Given the description of an element on the screen output the (x, y) to click on. 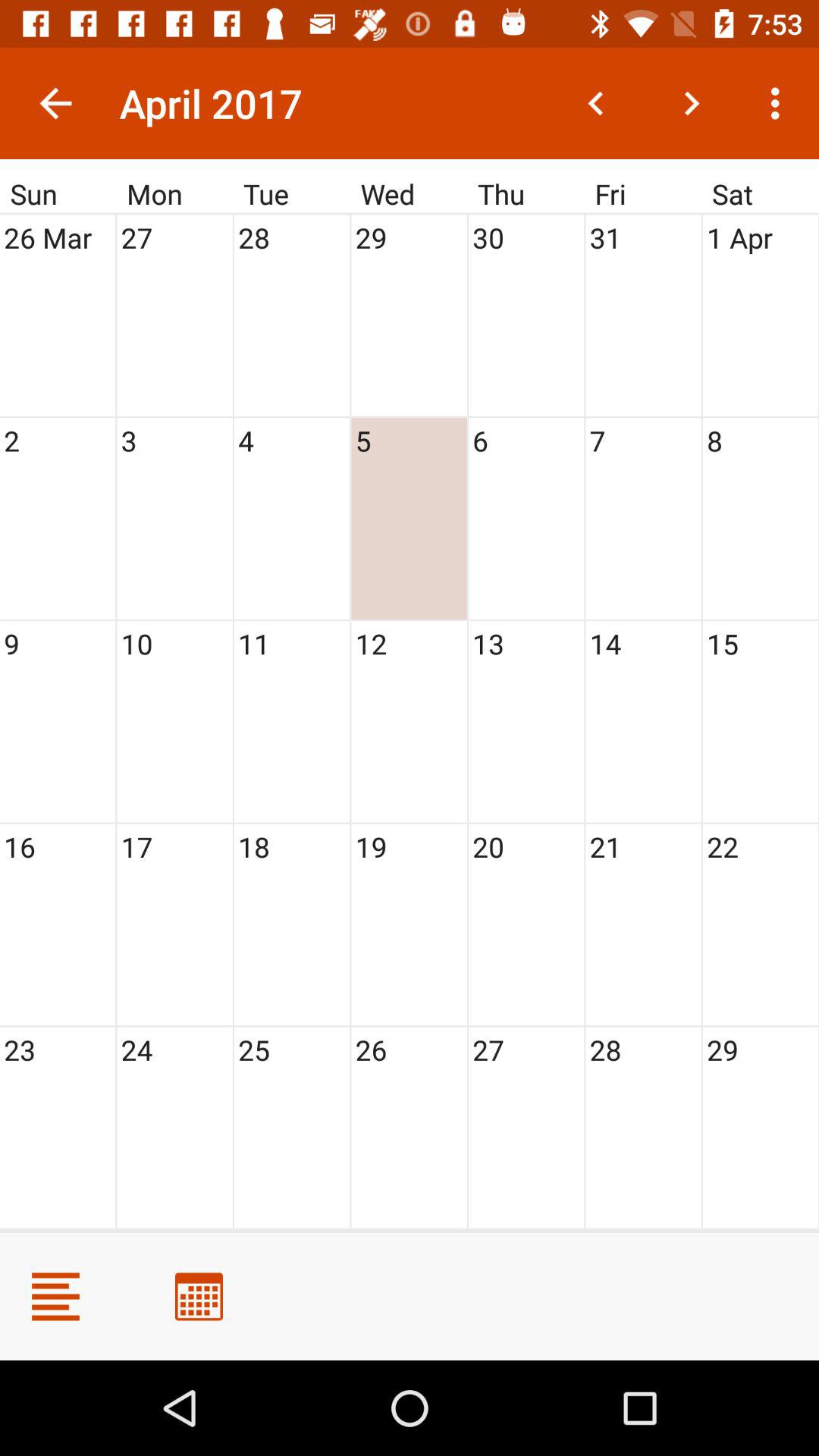
go to previous month (595, 103)
